Given the description of an element on the screen output the (x, y) to click on. 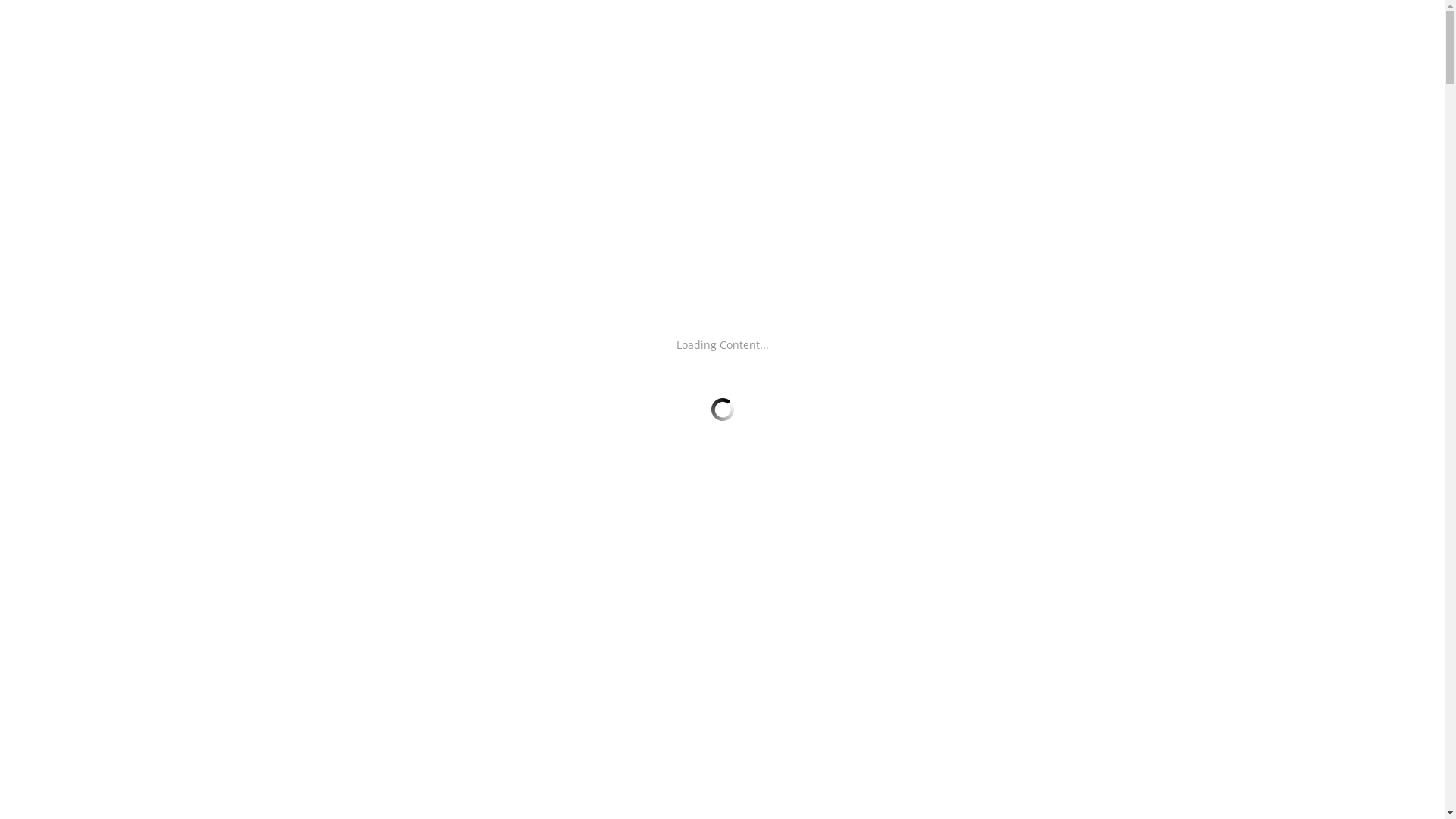
HOME Element type: text (731, 32)
BRANDS Element type: text (862, 32)
NEWS Element type: text (928, 32)
CONTACT Element type: text (997, 32)
PRIVACY POLICY Element type: text (1095, 32)
ABOUT Element type: text (793, 32)
